Given the description of an element on the screen output the (x, y) to click on. 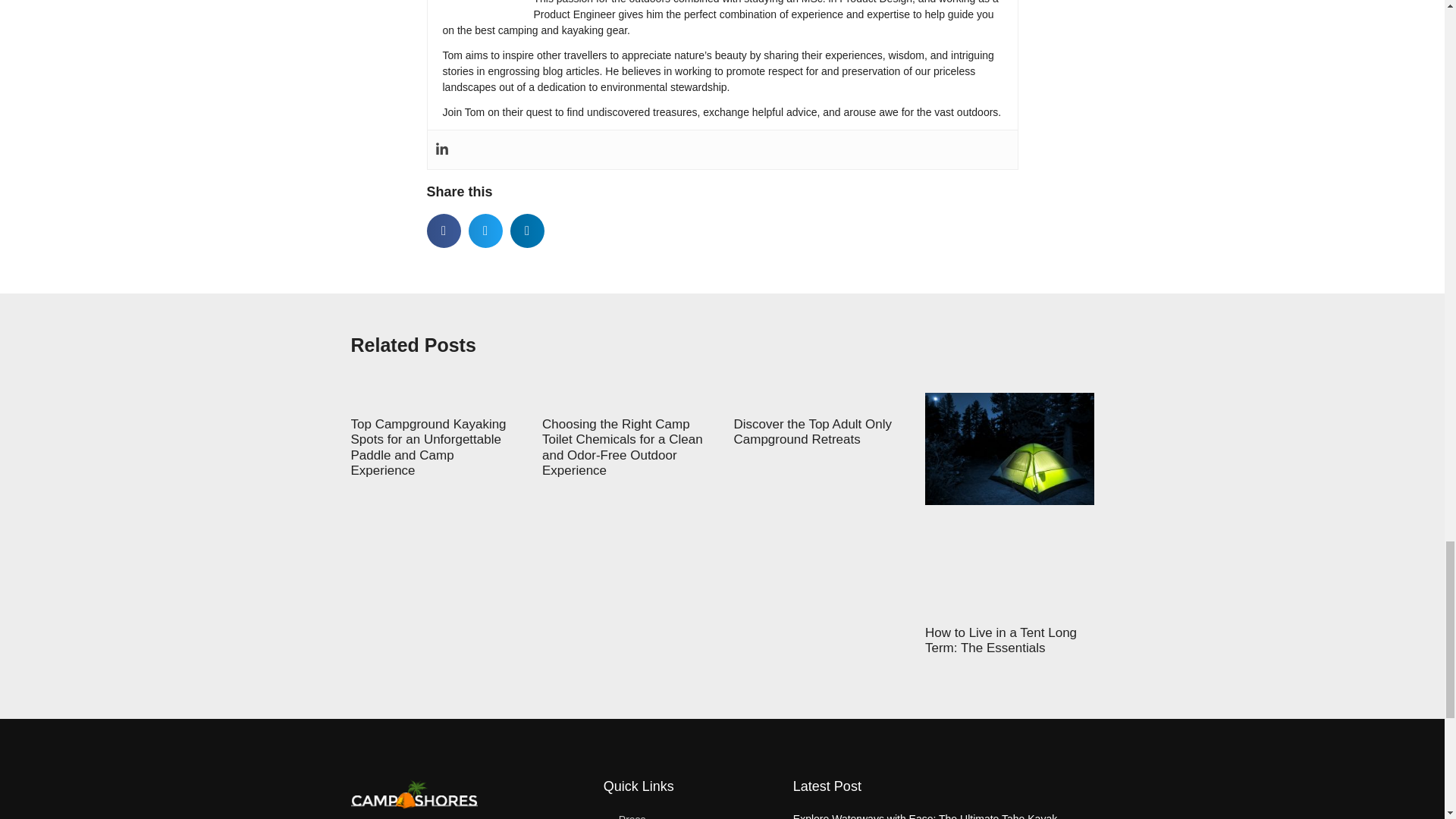
How to Live in a Tent Long Term: The Essentials (1000, 640)
Press (690, 813)
Discover the Top Adult Only Campground Retreats (812, 431)
